Given the description of an element on the screen output the (x, y) to click on. 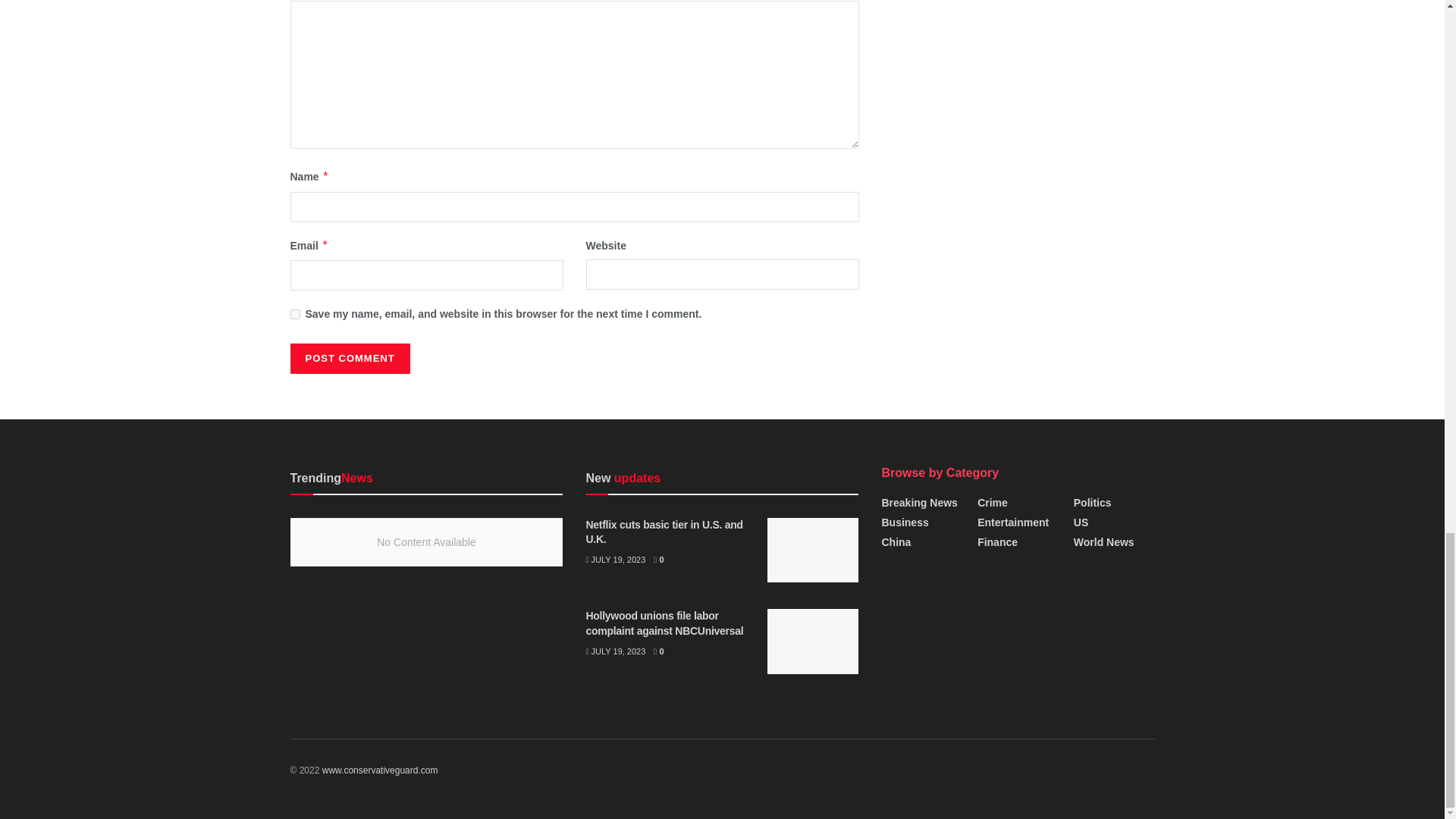
www.conservativeguard.com (379, 769)
yes (294, 314)
Post Comment (349, 358)
